Given the description of an element on the screen output the (x, y) to click on. 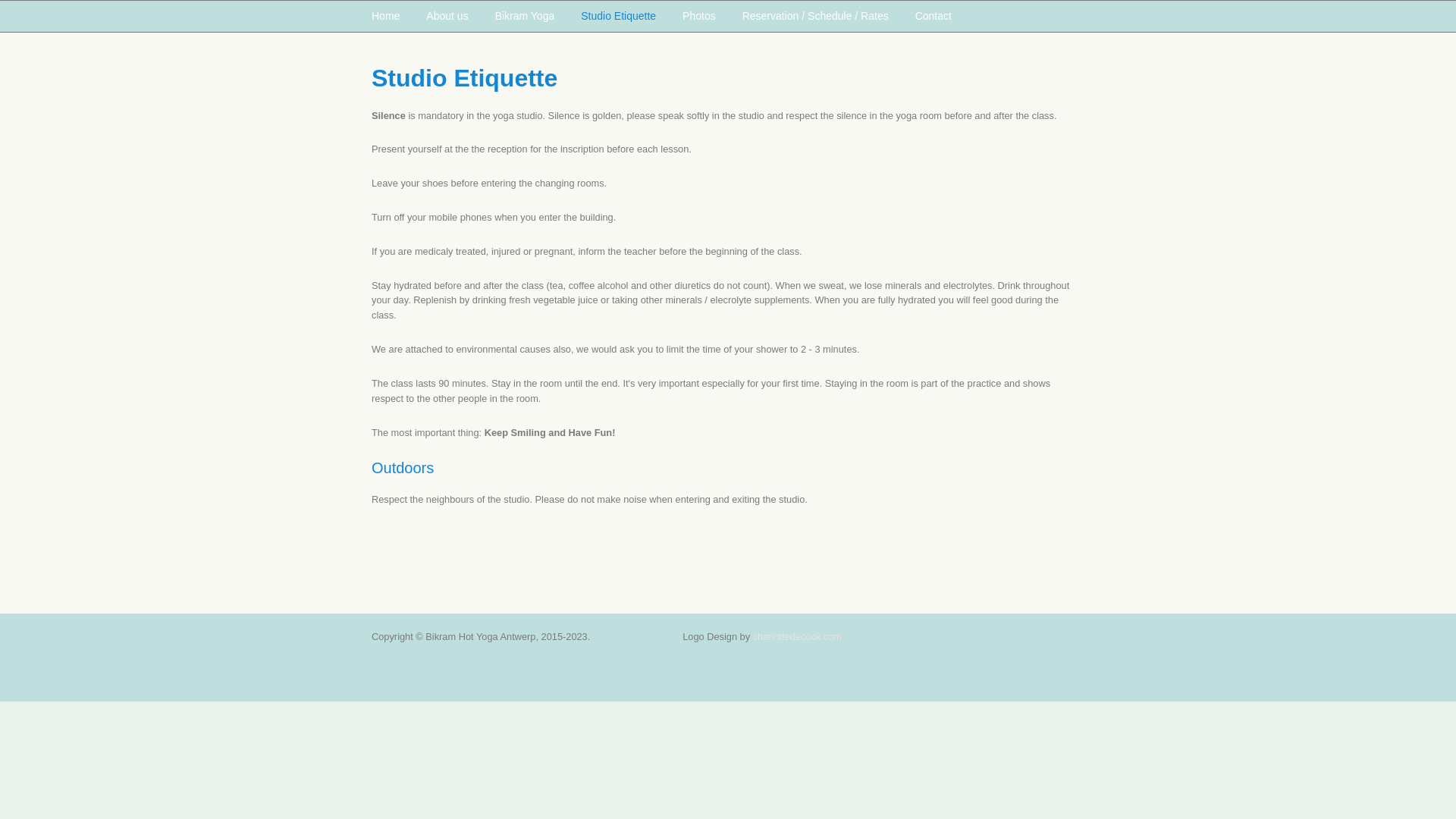
Contact Element type: text (931, 15)
Bikram Yoga Element type: text (524, 15)
Skip to main content Element type: text (43, 0)
Reservation / Schedule / Rates Element type: text (815, 15)
Photos Element type: text (698, 15)
Studio Etiquette Element type: text (618, 15)
charlottedecock.com Element type: text (797, 636)
About us Element type: text (446, 15)
Home Element type: text (387, 15)
